Given the description of an element on the screen output the (x, y) to click on. 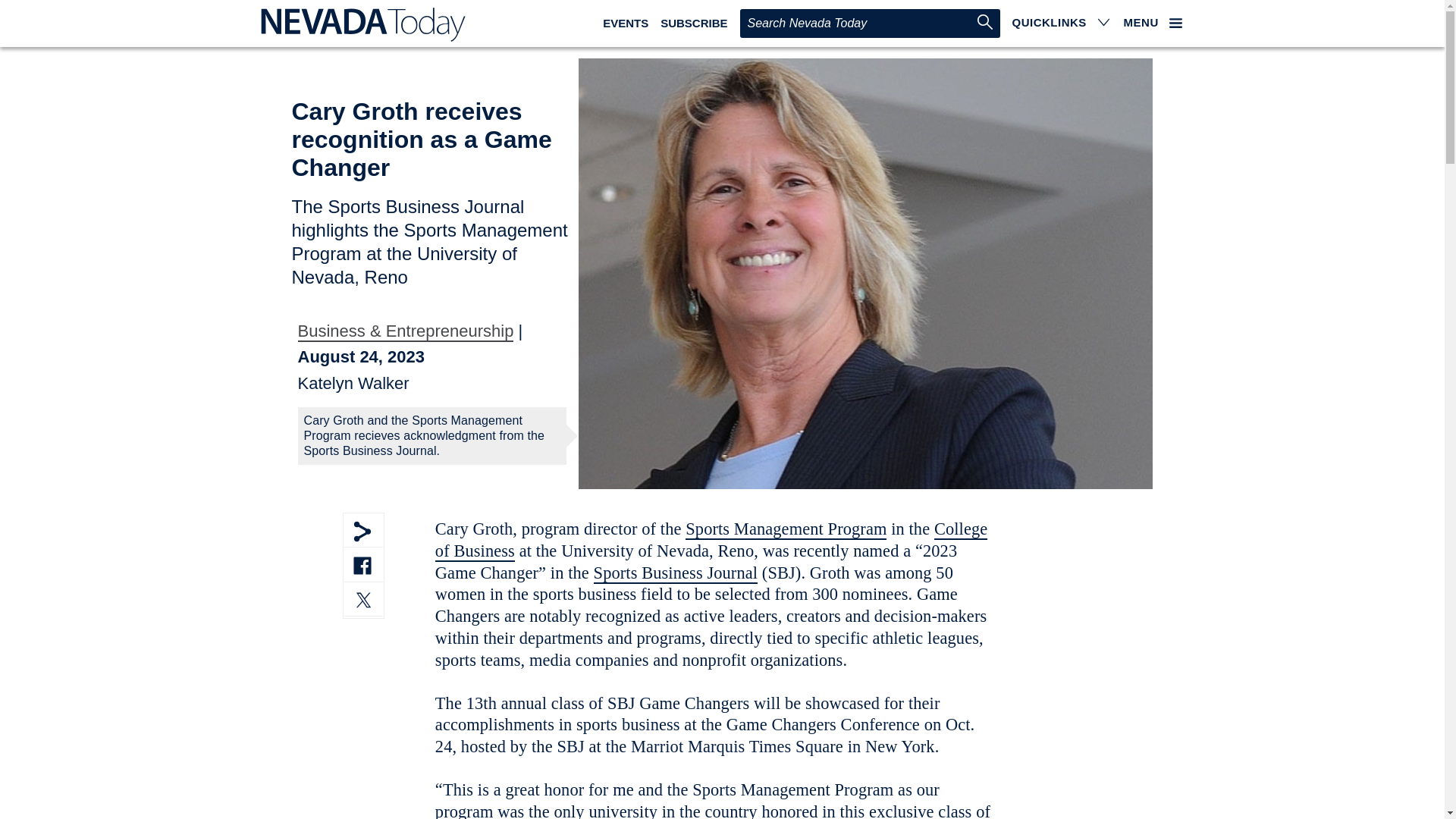
Homepage (359, 24)
EVENTS (624, 23)
SUBSCRIBE (693, 23)
